Given the description of an element on the screen output the (x, y) to click on. 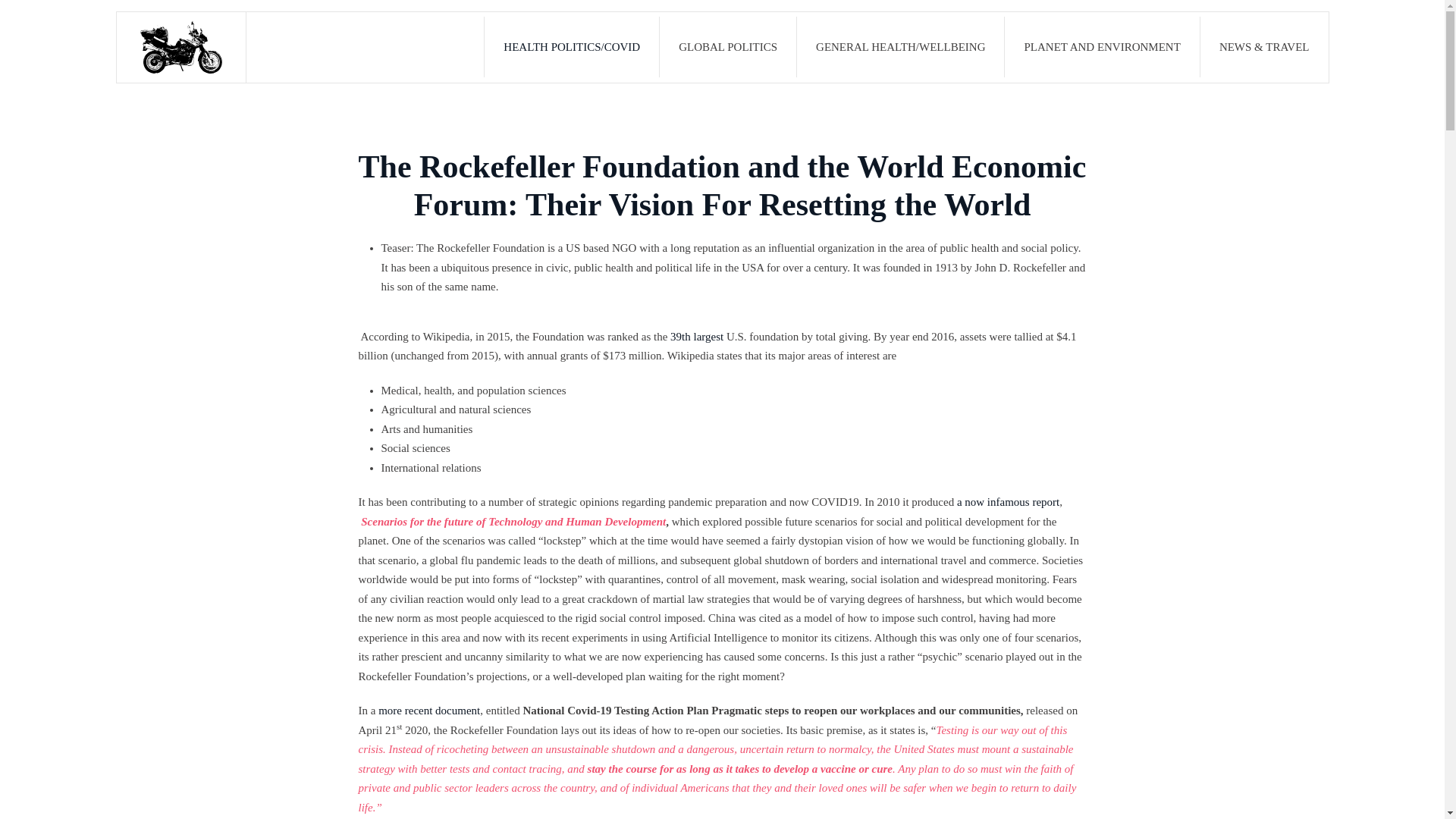
39th largest (696, 336)
GLOBAL POLITICS (727, 46)
a now infamous report (1007, 501)
PLANET AND ENVIRONMENT (1101, 46)
more recent document (429, 710)
